Given the description of an element on the screen output the (x, y) to click on. 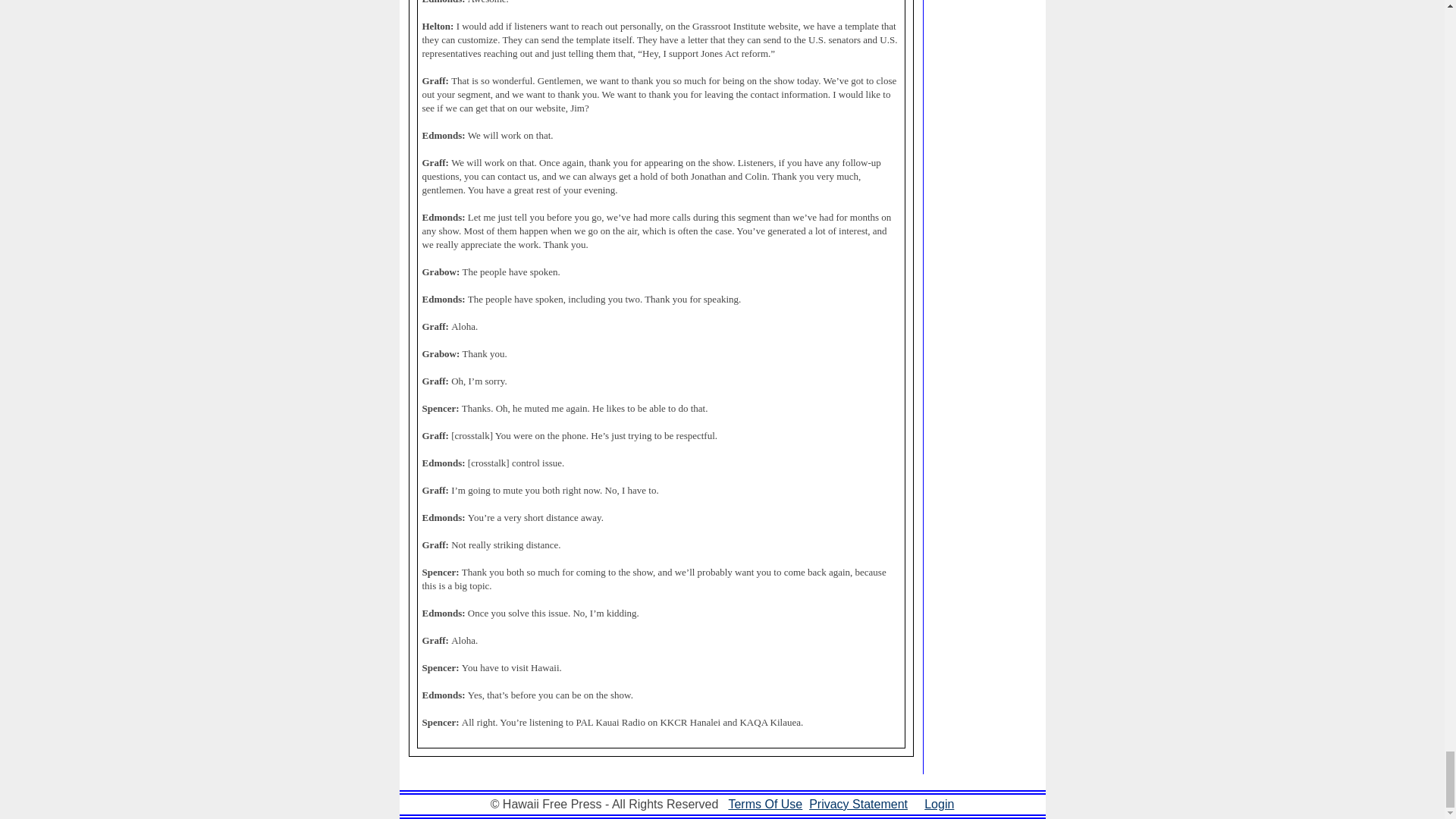
Login (938, 803)
